Given the description of an element on the screen output the (x, y) to click on. 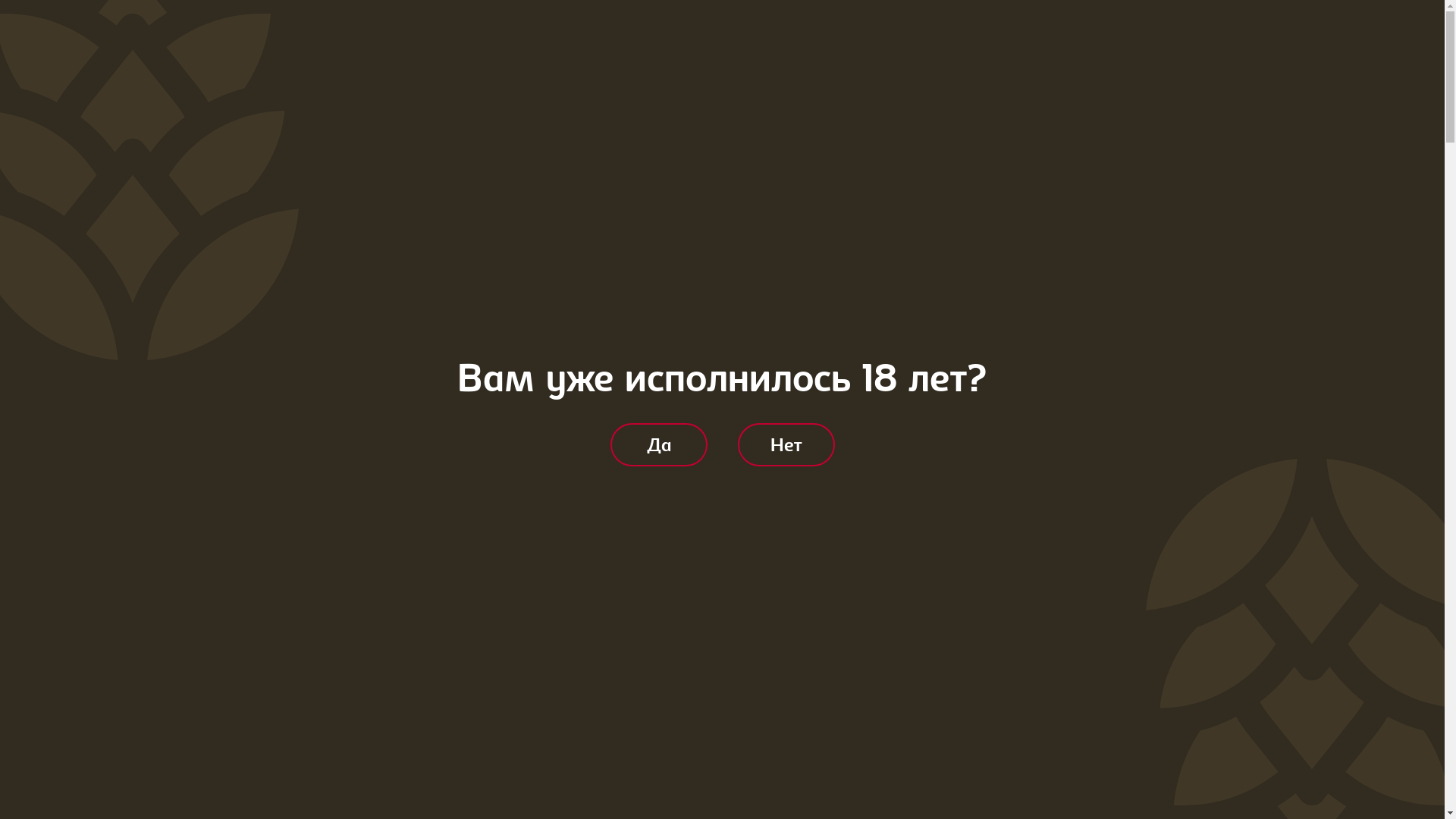
English Element type: text (1149, 33)
